Given the description of an element on the screen output the (x, y) to click on. 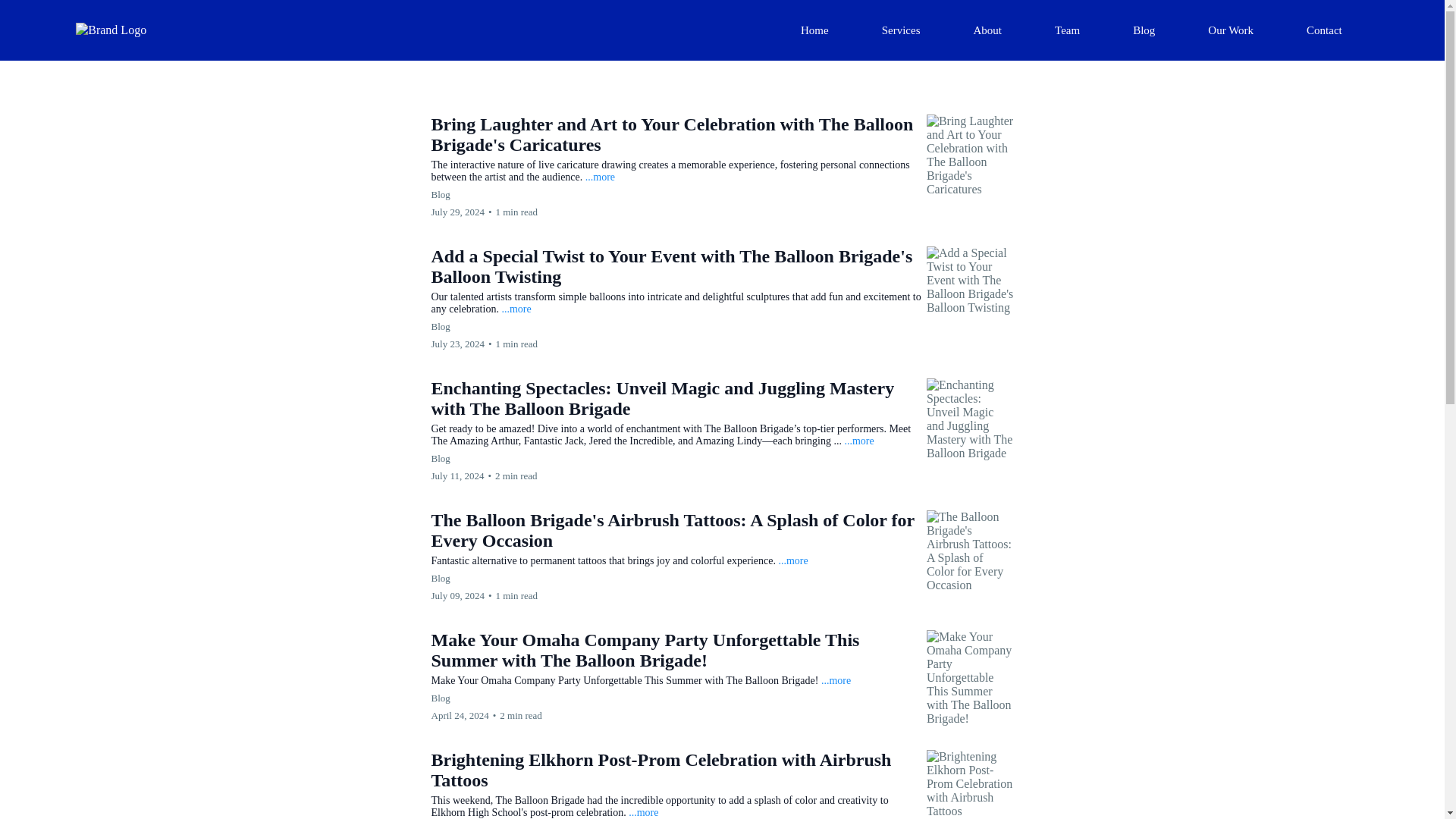
...more (835, 680)
Services (901, 30)
Home (815, 30)
...more (858, 440)
Blog (1143, 30)
...more (515, 308)
...more (599, 176)
Our Work (1229, 30)
...more (643, 812)
Contact (1323, 30)
